Given the description of an element on the screen output the (x, y) to click on. 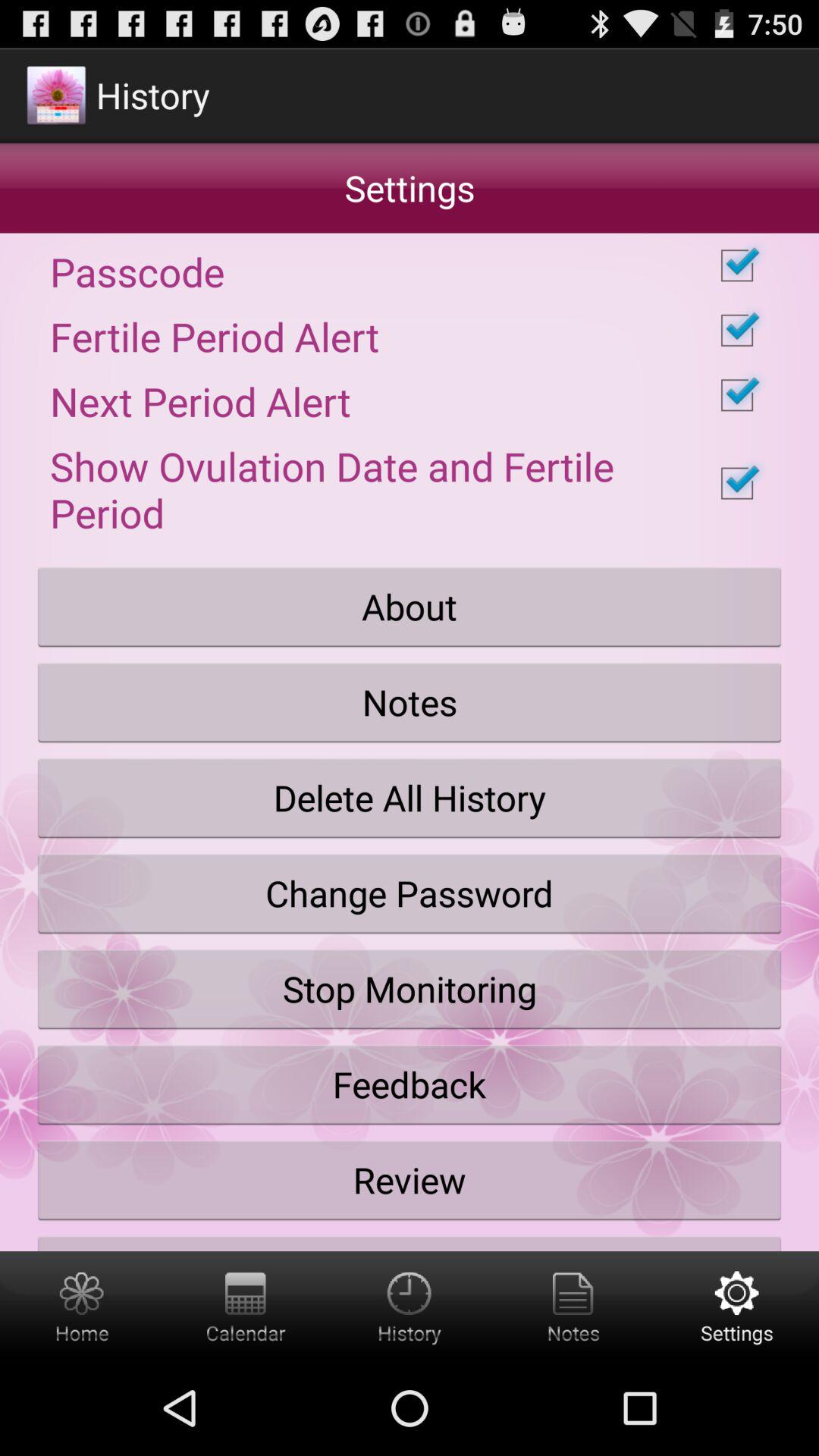
press the icon above change password button (409, 797)
